Given the description of an element on the screen output the (x, y) to click on. 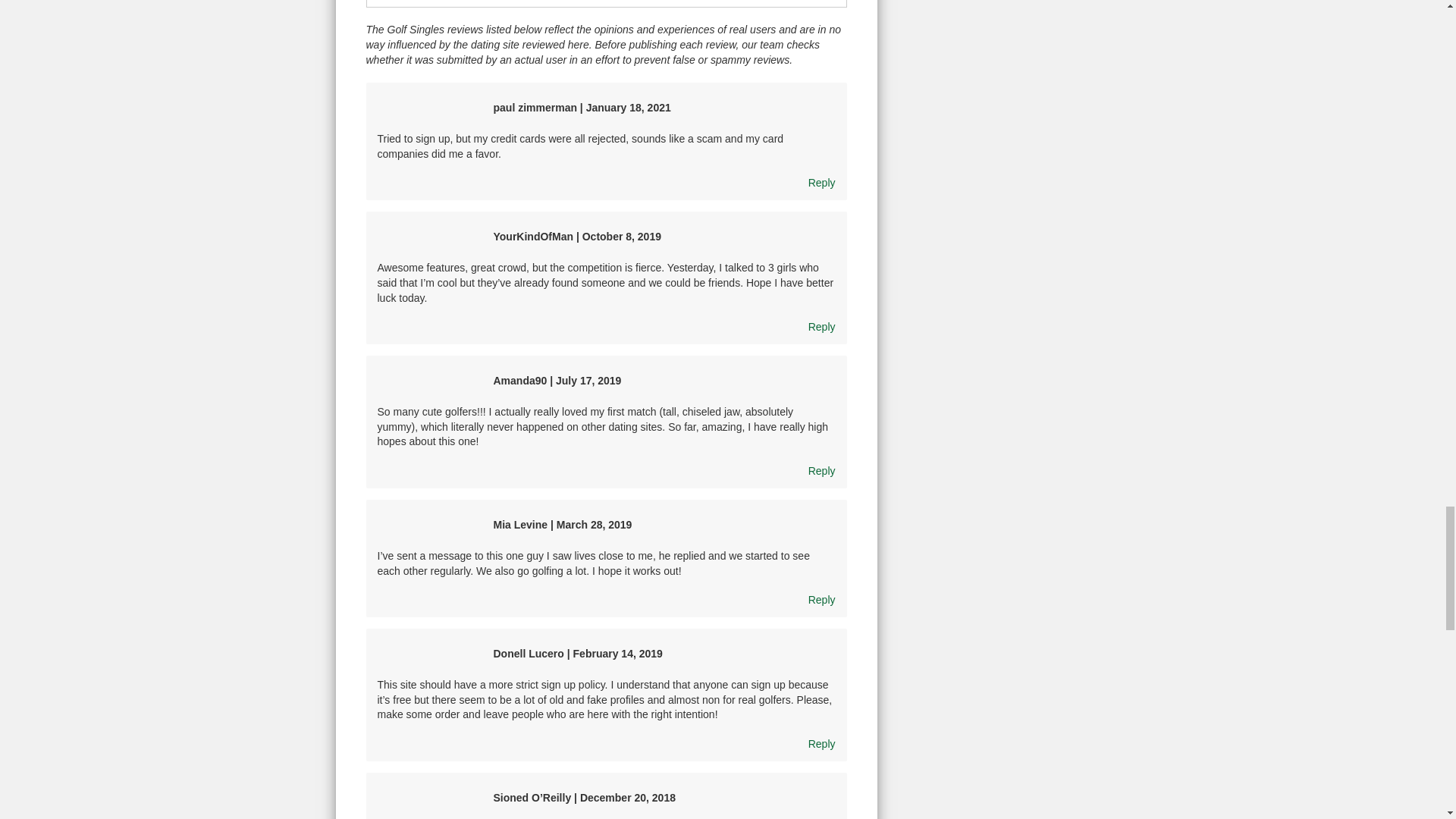
Reply (821, 470)
Reply (821, 182)
Reply (821, 599)
Reply (821, 743)
Reply (821, 326)
